Given the description of an element on the screen output the (x, y) to click on. 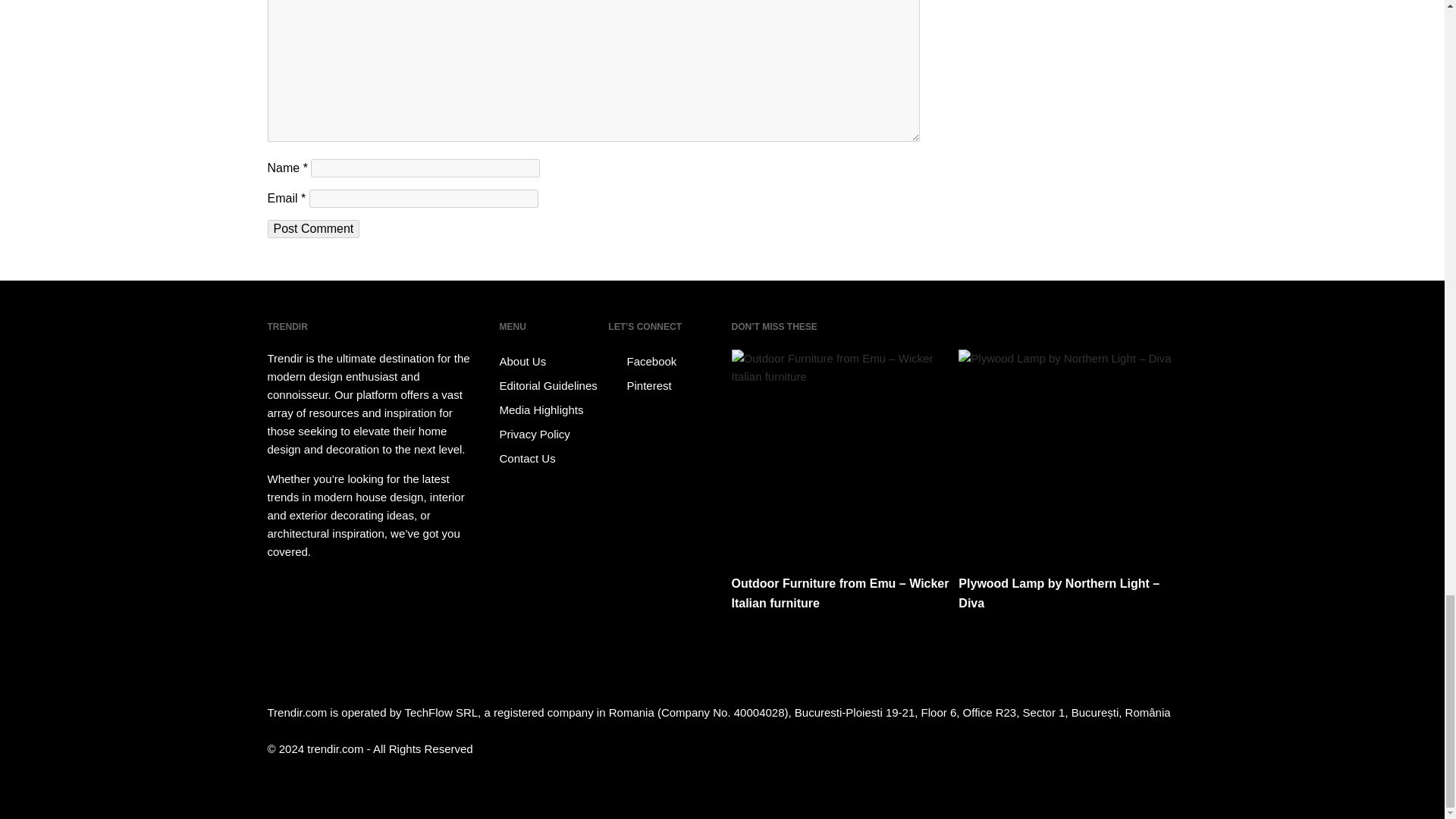
Trendir Editorial Guidelines (551, 385)
Post Comment (312, 229)
About Us - Trendir (551, 361)
Media Highlights - Trendir (551, 410)
